Given the description of an element on the screen output the (x, y) to click on. 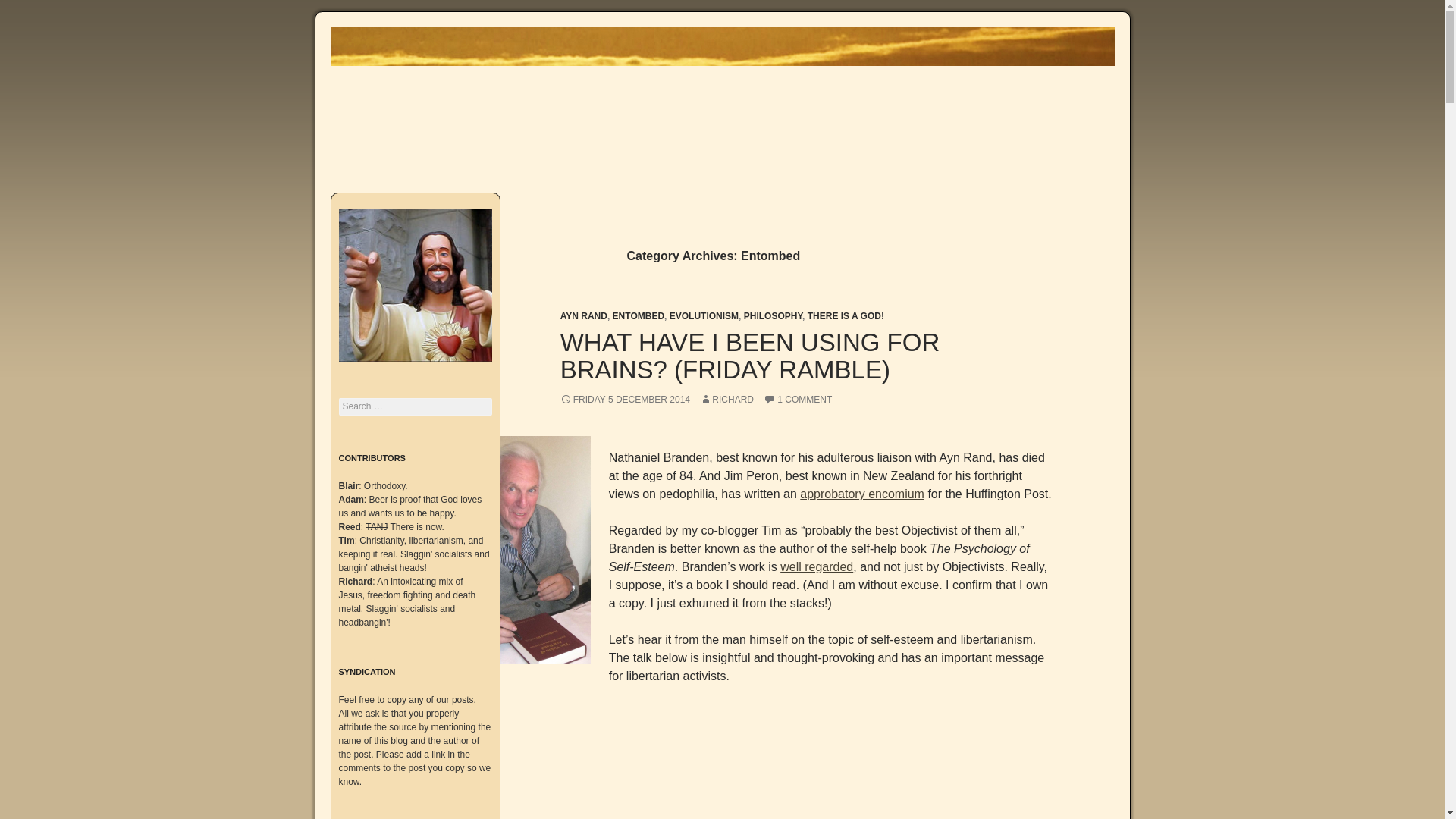
AYN RAND (583, 316)
EVOLUTIONISM (703, 316)
approbatory encomium (861, 493)
well regarded (816, 566)
ENTOMBED (637, 316)
FRIDAY 5 DECEMBER 2014 (625, 398)
RICHARD (727, 398)
PHILOSOPHY (773, 316)
THERE IS A GOD! (845, 316)
1 COMMENT (796, 398)
